Given the description of an element on the screen output the (x, y) to click on. 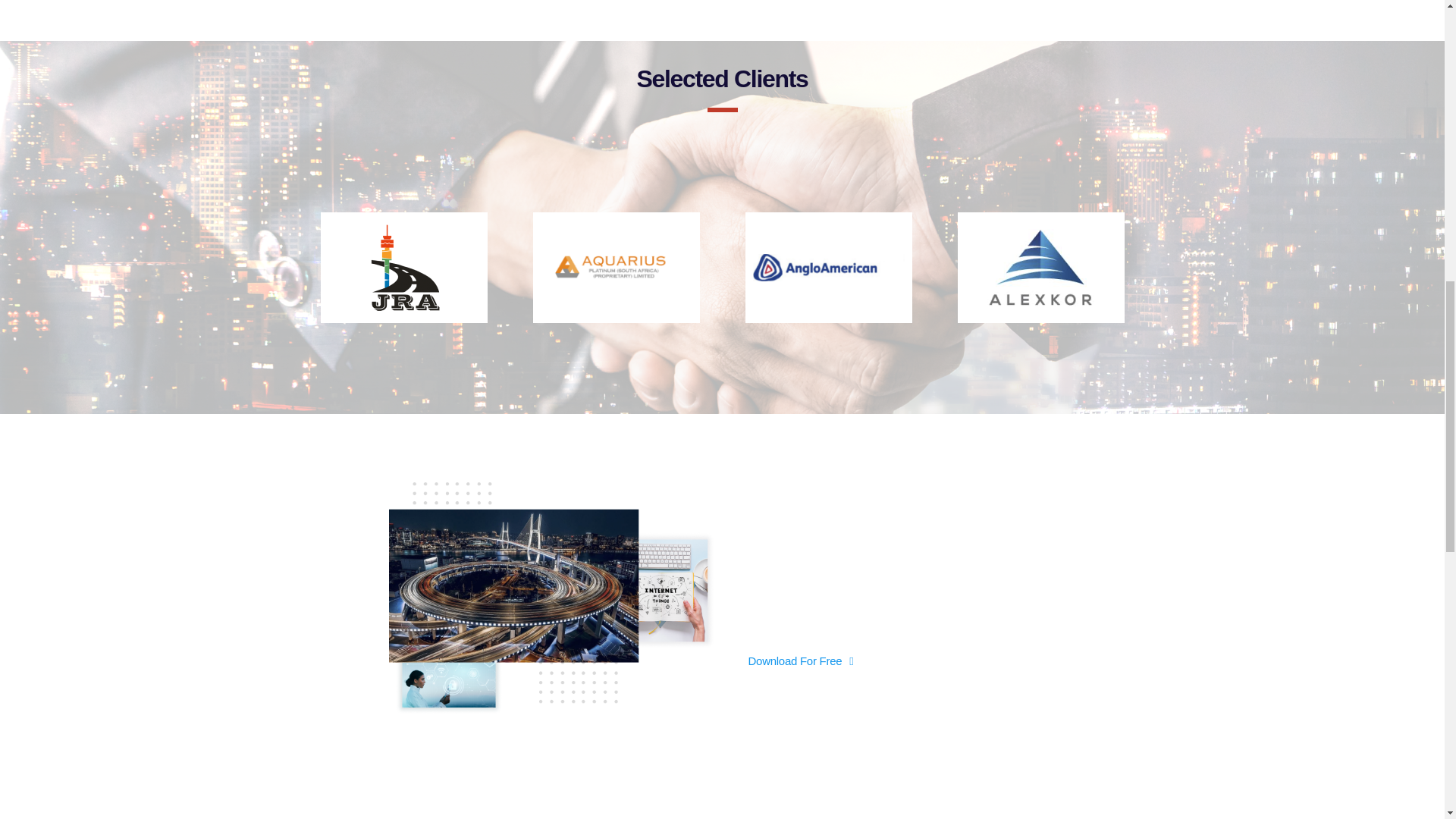
Download For Free (799, 661)
